Given the description of an element on the screen output the (x, y) to click on. 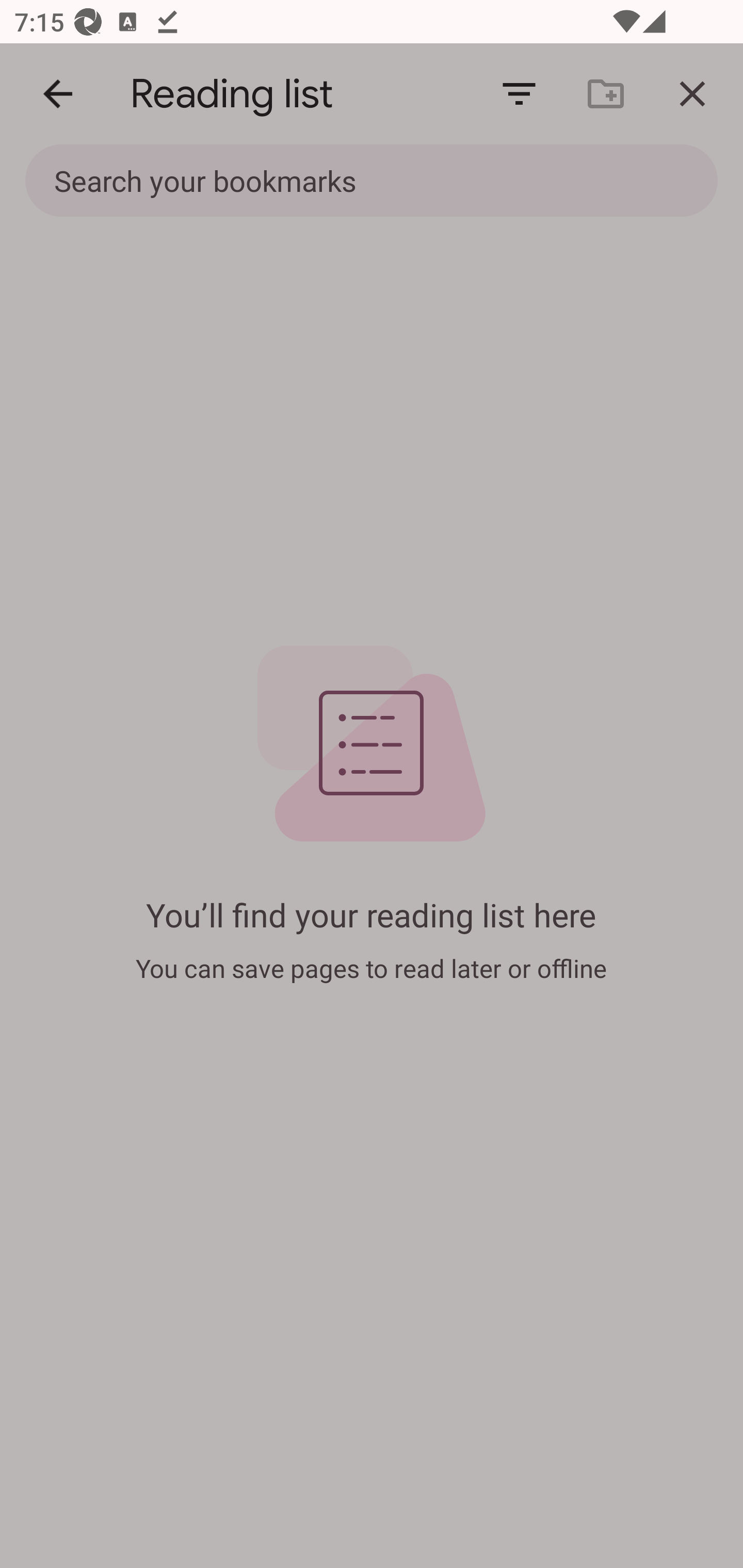
Go back (57, 93)
Sort and view options (518, 93)
Create new folder (605, 93)
Close dialog (692, 93)
Search your bookmarks (327, 180)
